Given the description of an element on the screen output the (x, y) to click on. 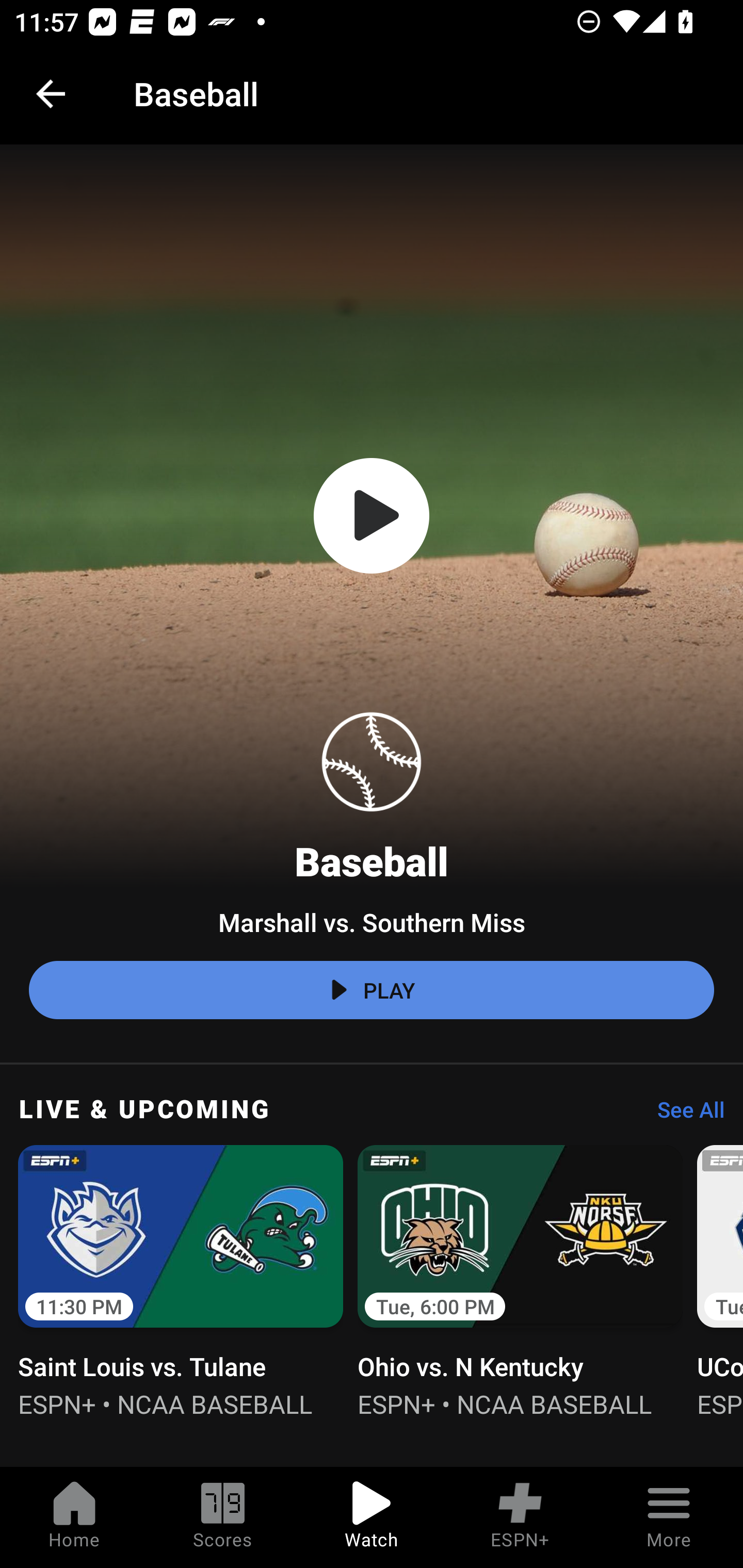
 (371, 515)
PLAY (371, 990)
See All (683, 1114)
Home (74, 1517)
Scores (222, 1517)
ESPN+ (519, 1517)
More (668, 1517)
